Given the description of an element on the screen output the (x, y) to click on. 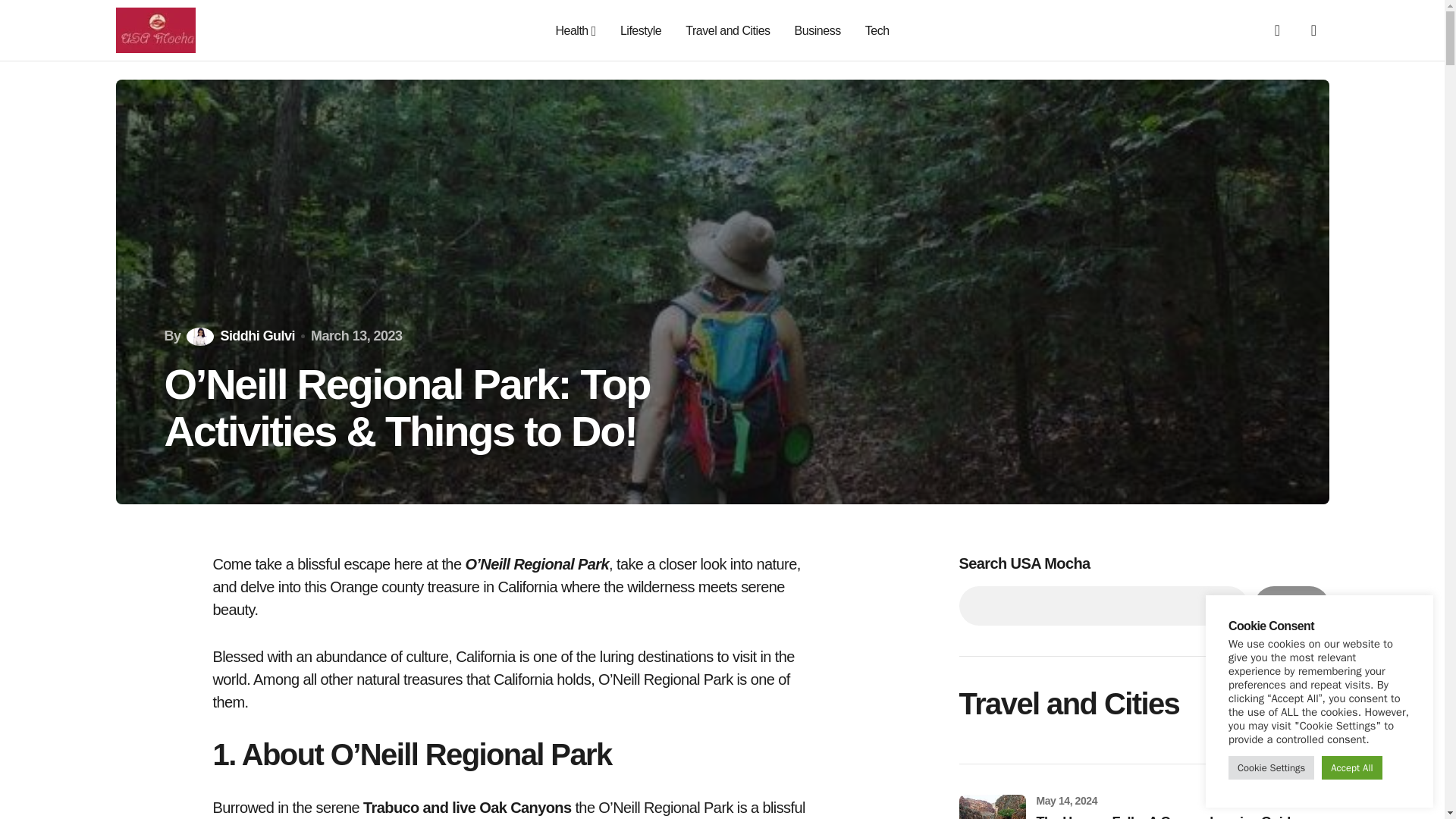
Travel and Cities (727, 30)
